Given the description of an element on the screen output the (x, y) to click on. 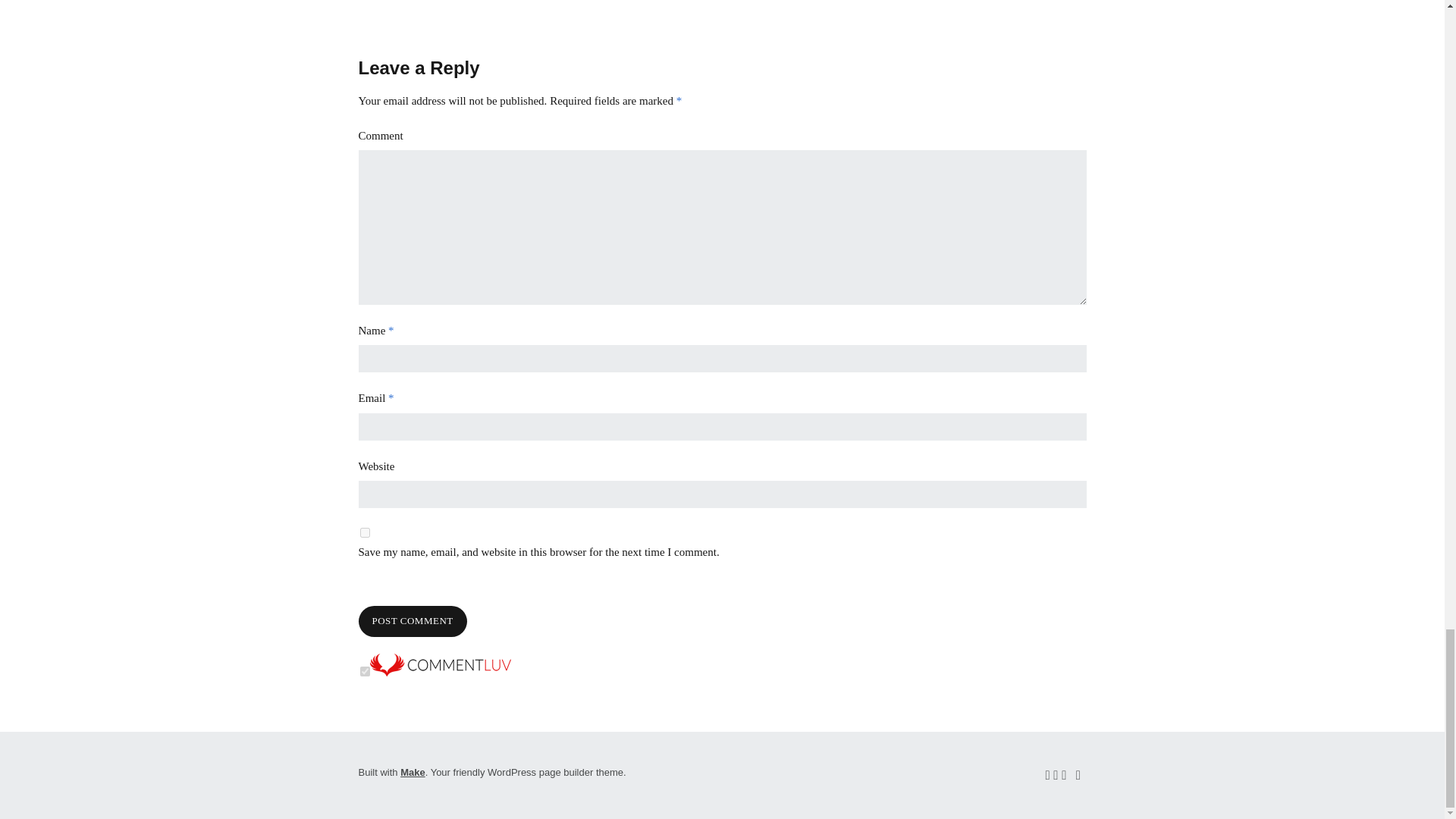
CommentLuv is enabled (440, 671)
Post Comment (411, 621)
yes (364, 532)
on (364, 671)
Post Comment (411, 621)
Make (412, 772)
